Given the description of an element on the screen output the (x, y) to click on. 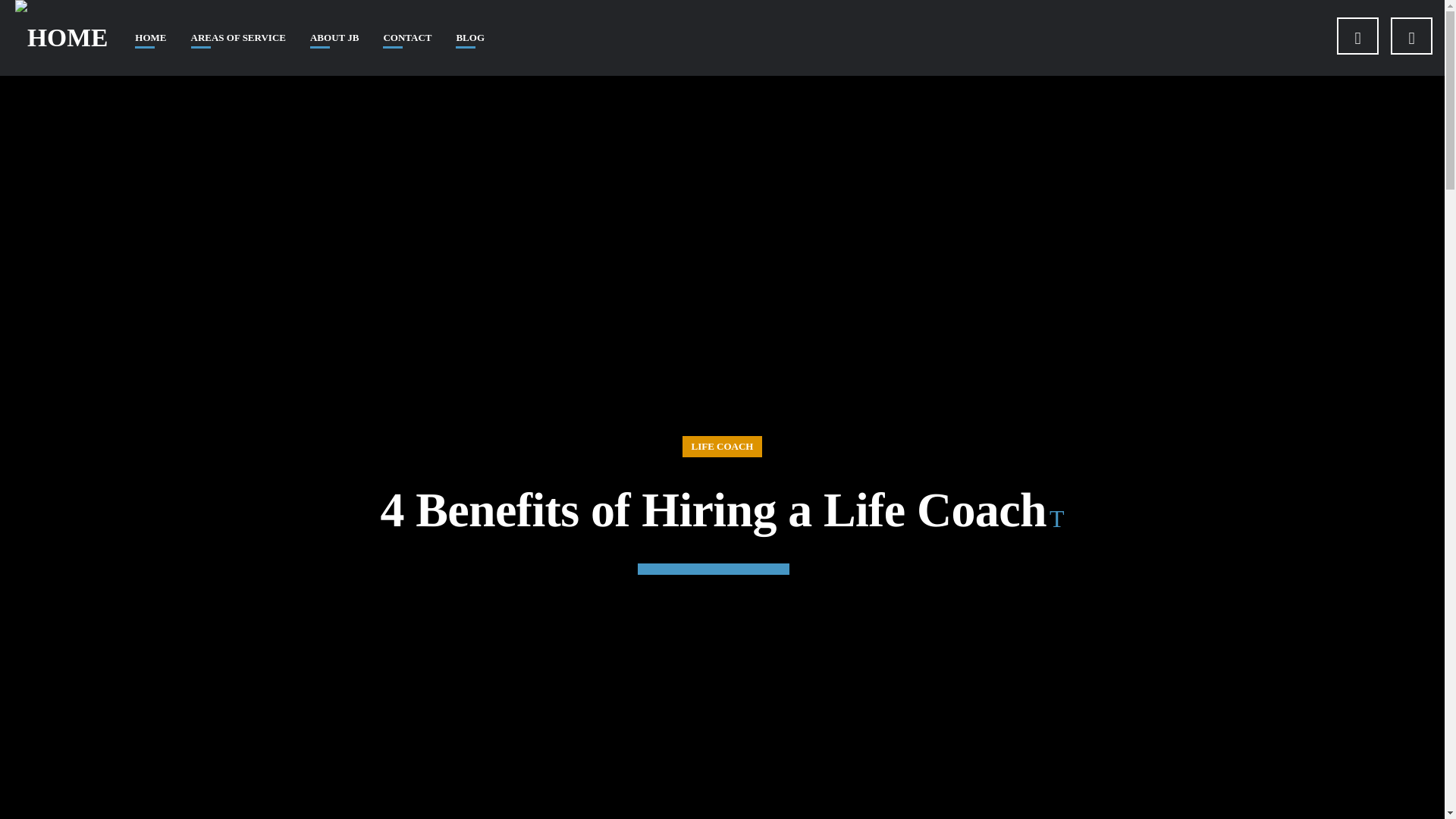
CONTACT (407, 38)
Search (1228, 100)
ABOUT JB (334, 38)
LIFE COACH (722, 446)
AREAS OF SERVICE (238, 38)
